Given the description of an element on the screen output the (x, y) to click on. 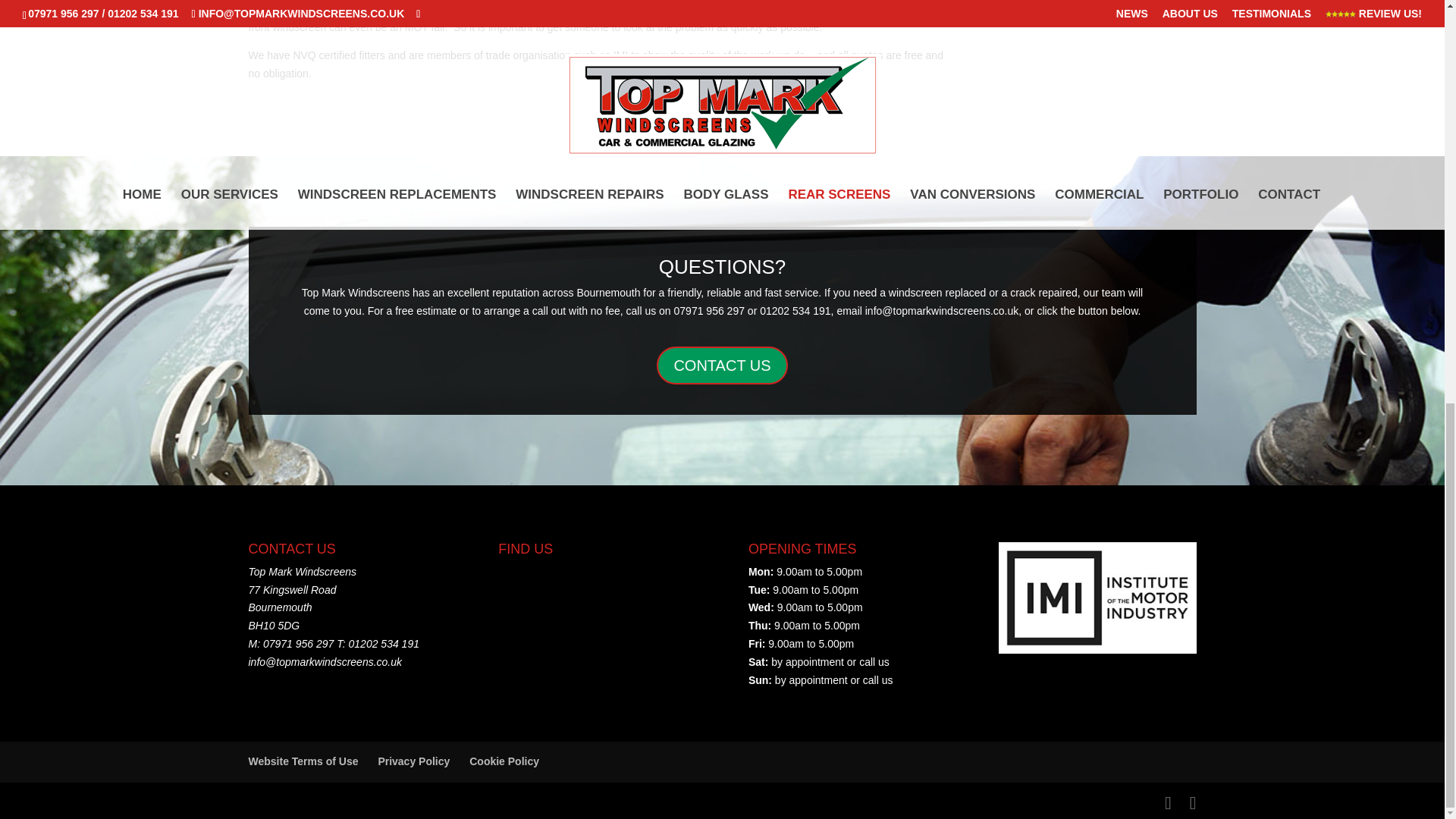
Cookie Policy (503, 761)
Website Terms of Use (303, 761)
CONTACT US (721, 365)
Privacy Policy (413, 761)
M: 07971 956 297 T: 01202 534 191 (333, 644)
